Given the description of an element on the screen output the (x, y) to click on. 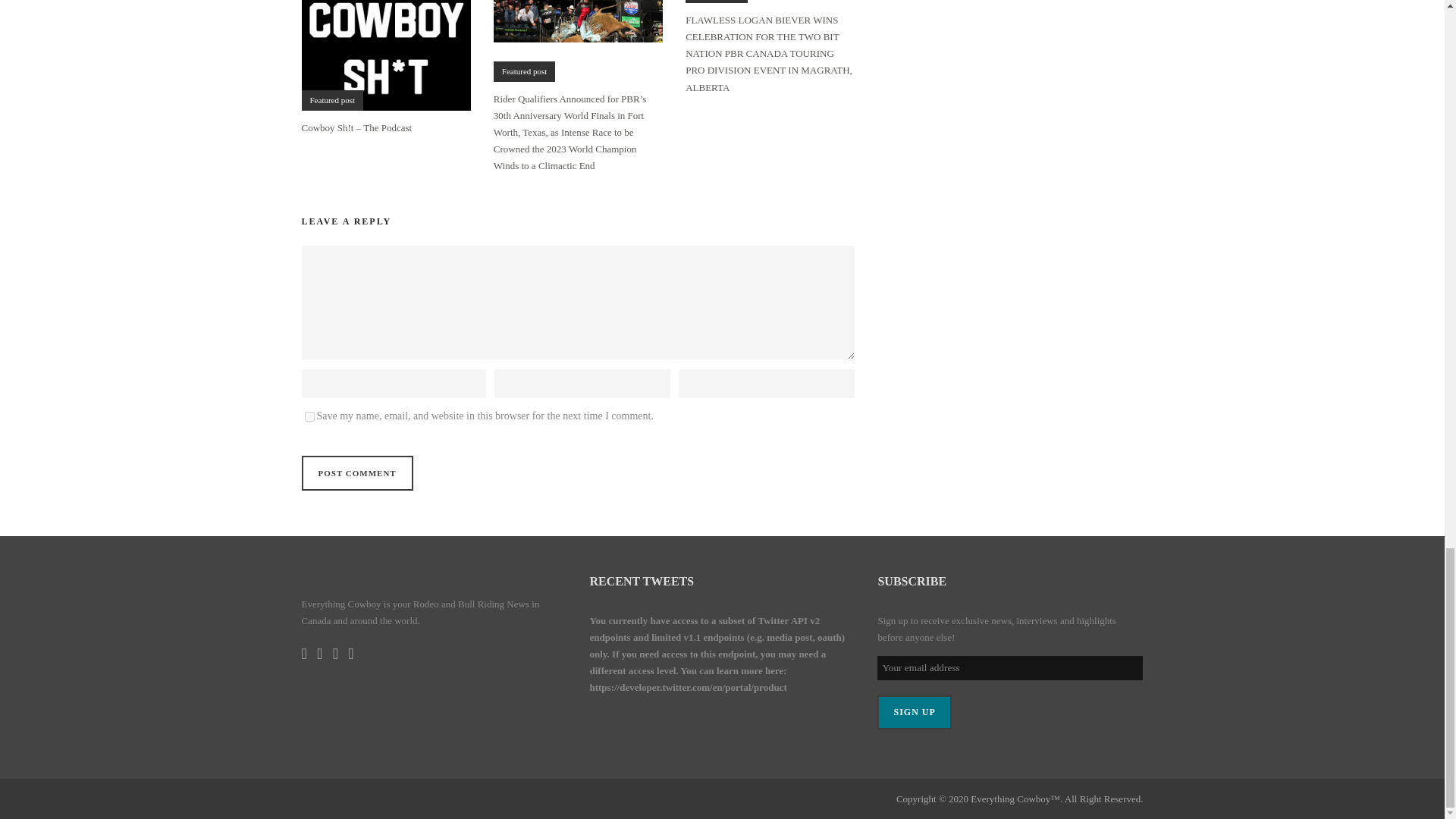
Sign up (913, 712)
yes (309, 416)
Post Comment (357, 472)
